Given the description of an element on the screen output the (x, y) to click on. 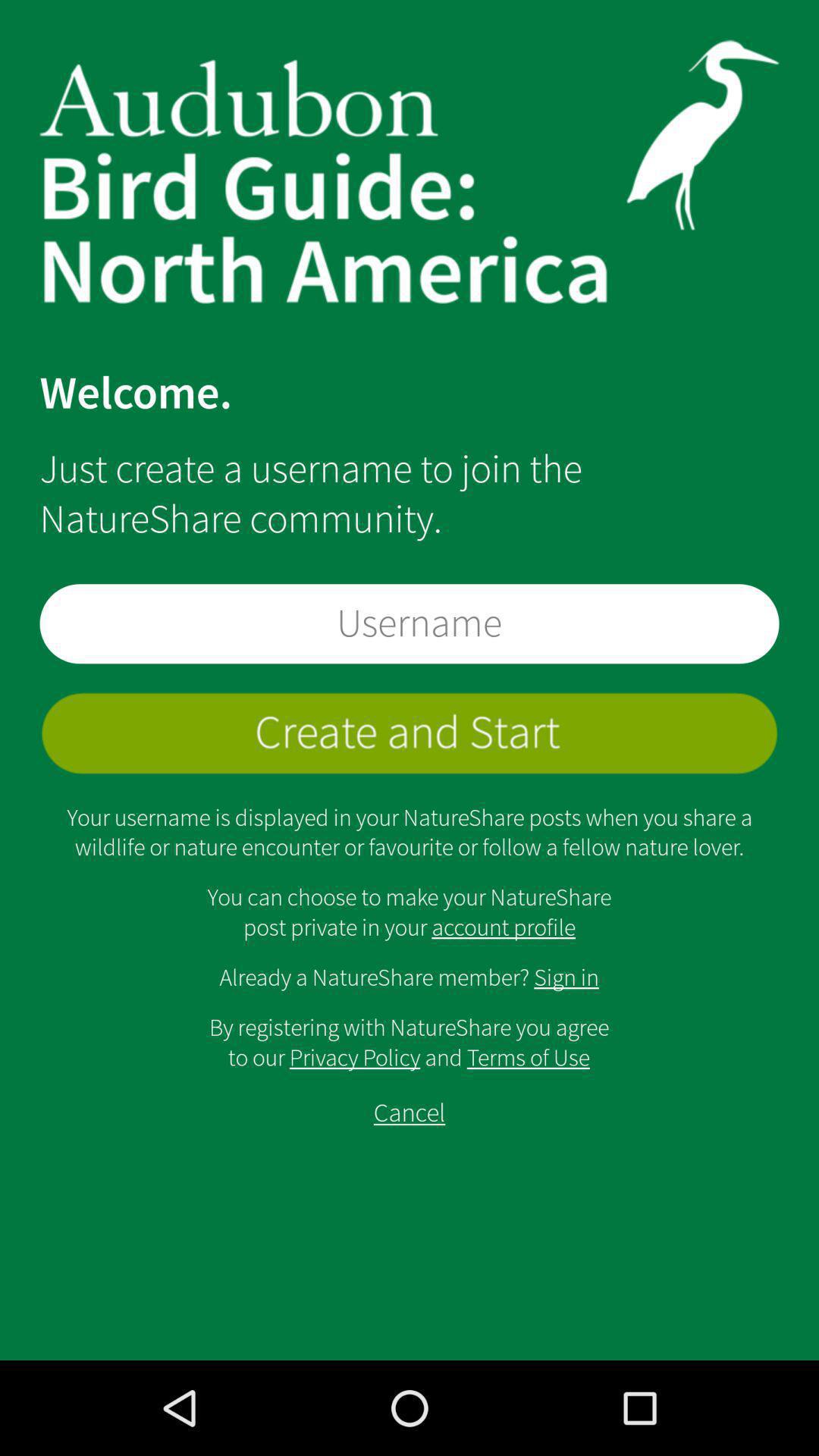
get start (409, 733)
